Given the description of an element on the screen output the (x, y) to click on. 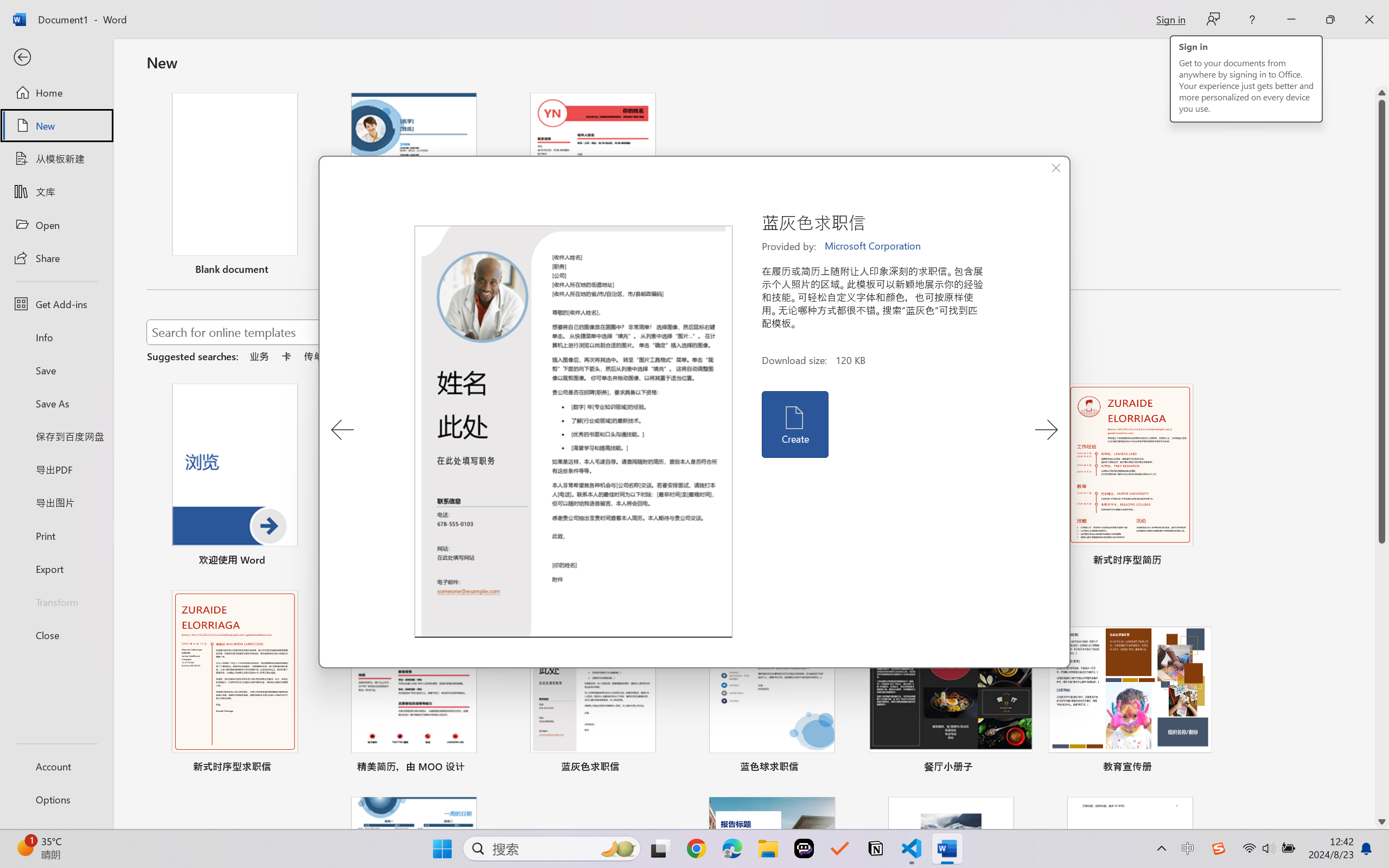
Search for online templates (389, 333)
Line down (1382, 821)
New (56, 125)
Save As (56, 403)
Microsoft Corporation (873, 246)
Info (56, 337)
